Given the description of an element on the screen output the (x, y) to click on. 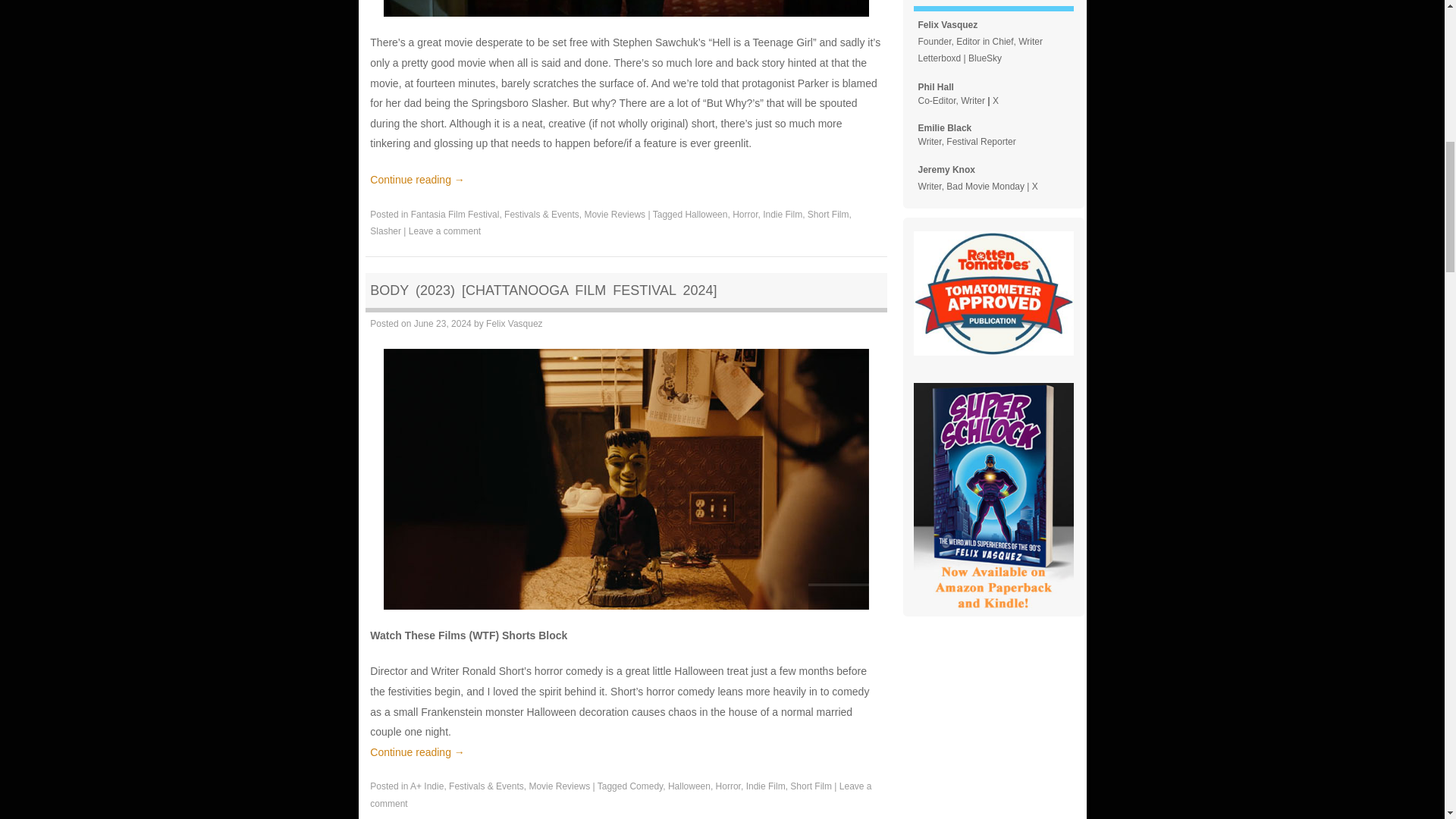
Horror (728, 786)
Horror (744, 214)
Comedy (645, 786)
Movie Reviews (614, 214)
Felix Vasquez (513, 323)
View all posts by Felix Vasquez (513, 323)
June 23, 2024 (442, 323)
Halloween (689, 786)
Halloween (705, 214)
Indie Film (782, 214)
Movie Reviews (558, 786)
10:55 am (442, 323)
Leave a comment (444, 231)
Slasher (385, 231)
Short Film (828, 214)
